Given the description of an element on the screen output the (x, y) to click on. 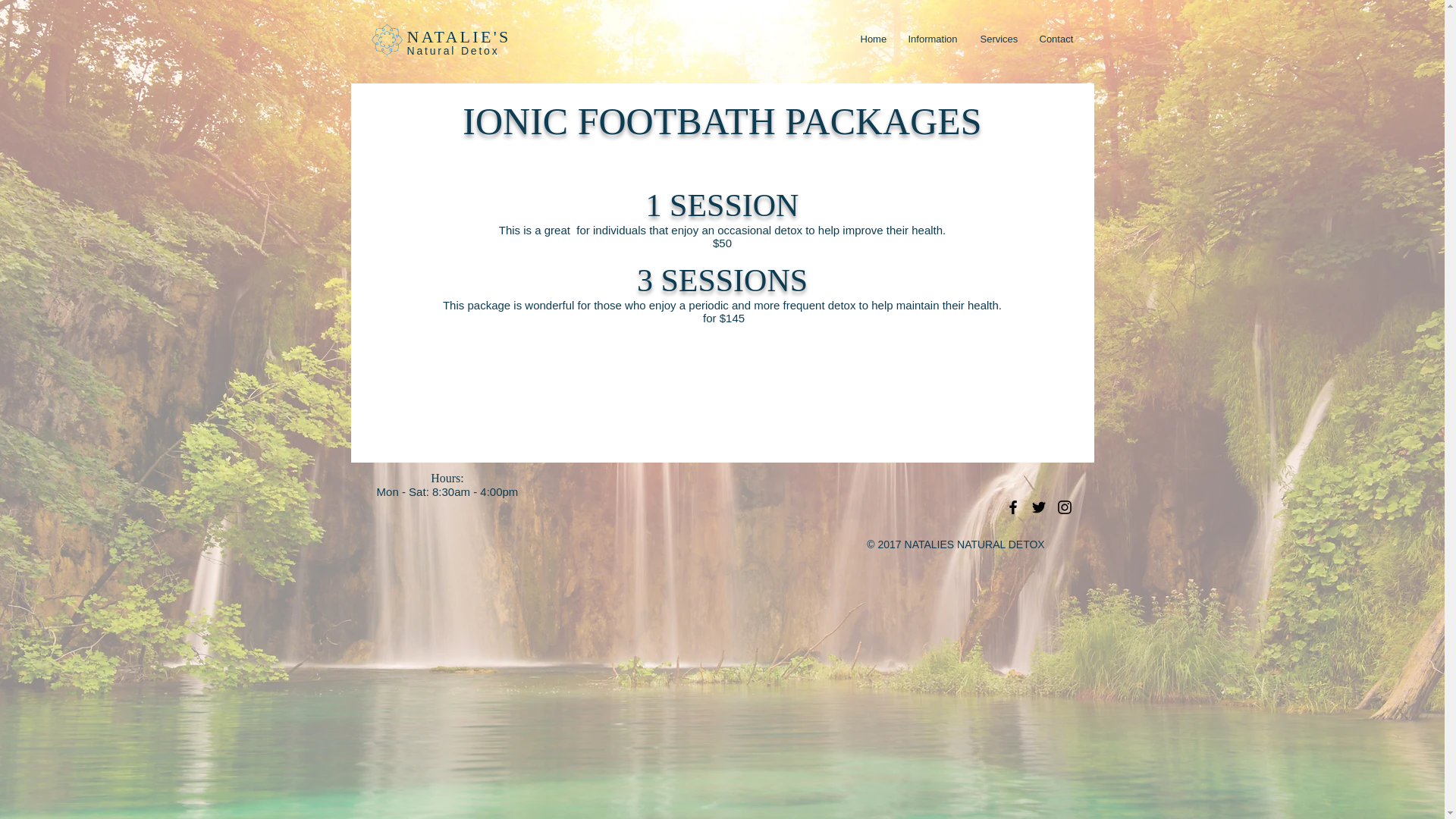
Services (998, 39)
Contact (1055, 39)
NATALIE'S (458, 36)
Natural Detox (452, 50)
Home (872, 39)
